Given the description of an element on the screen output the (x, y) to click on. 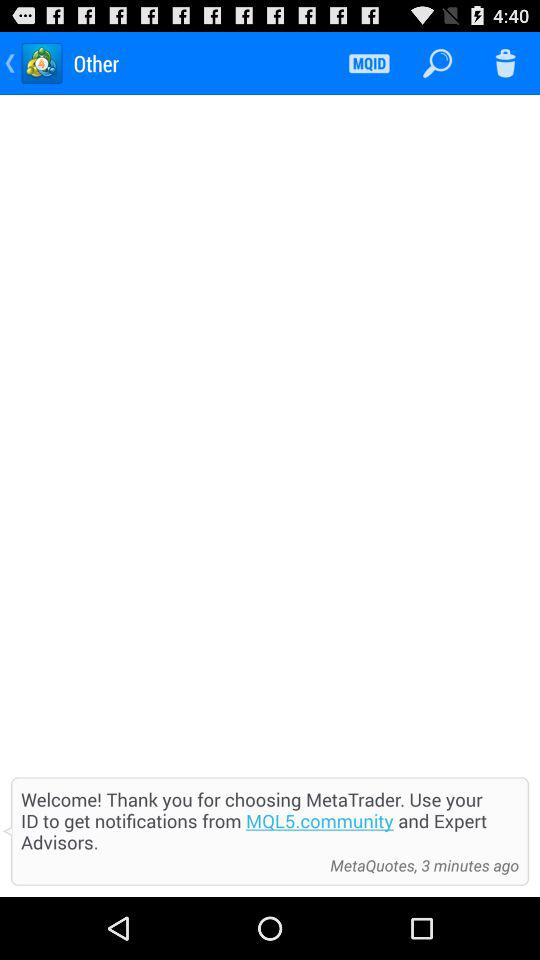
flip to the welcome thank you item (270, 820)
